Given the description of an element on the screen output the (x, y) to click on. 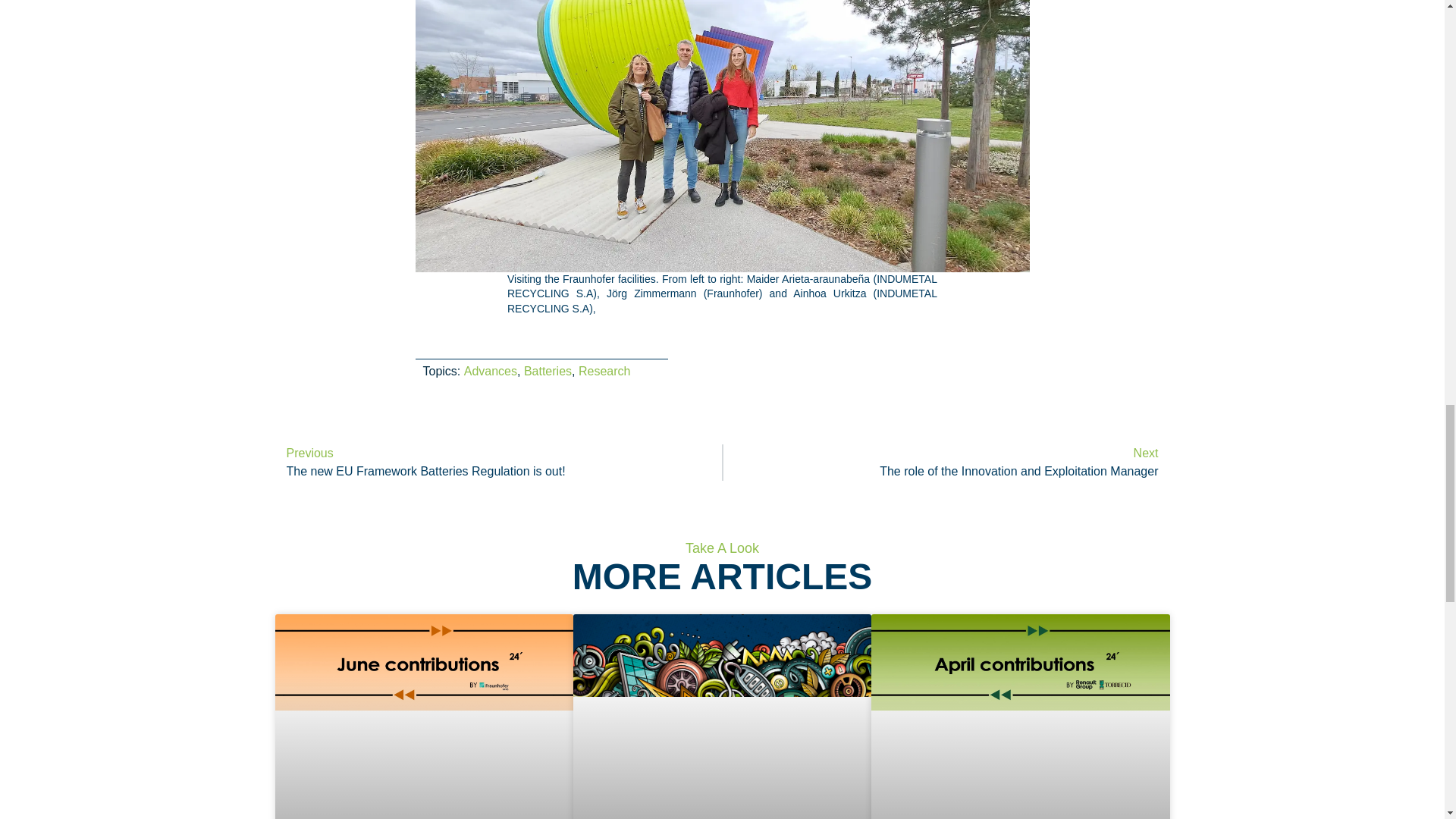
Research (946, 462)
Batteries (604, 369)
Advances (497, 462)
